Given the description of an element on the screen output the (x, y) to click on. 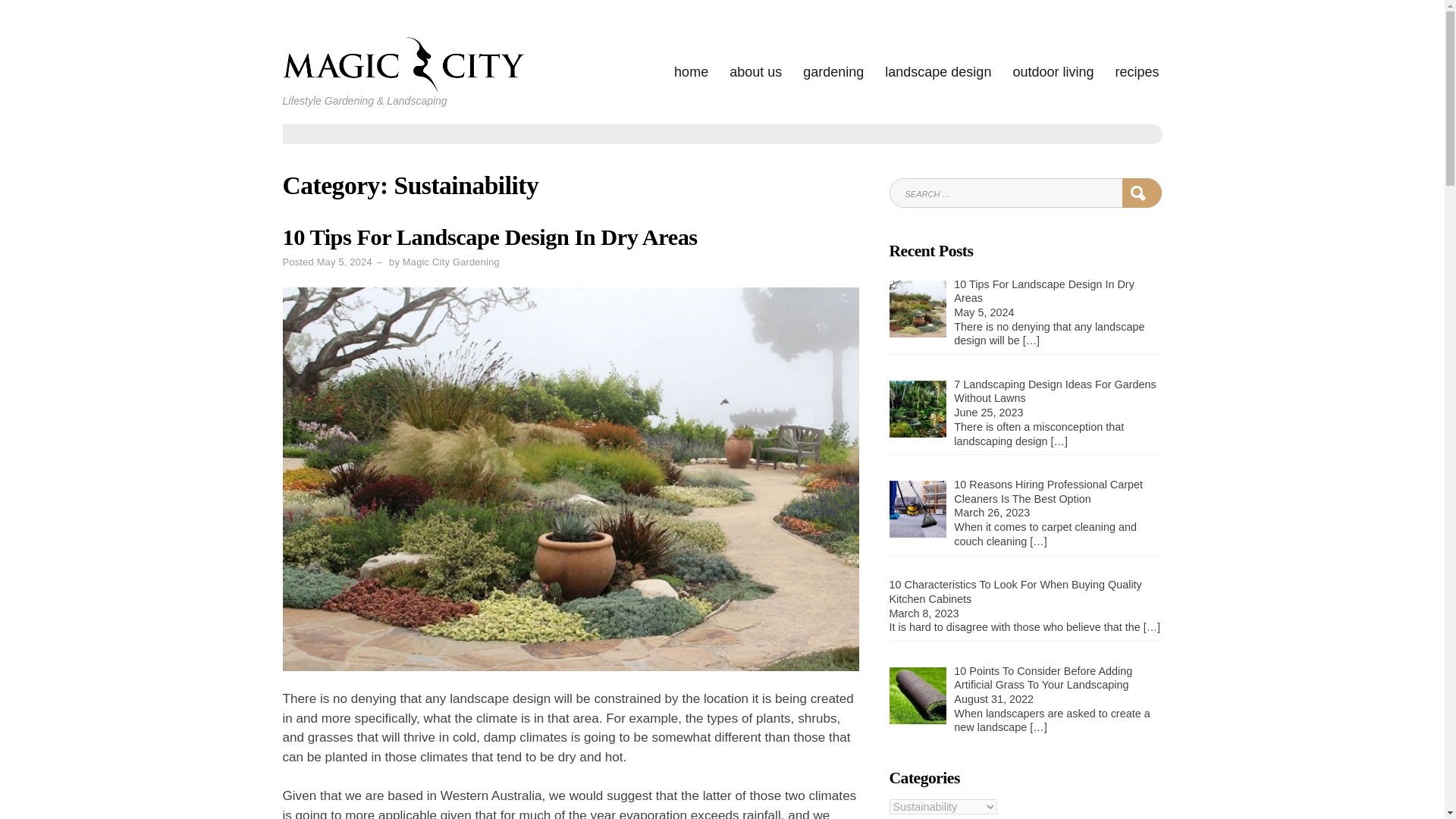
Magic City Gardening (451, 261)
gardening (833, 72)
10 Tips For Landscape Design In Dry Areas (1043, 291)
landscape design (938, 72)
May 5, 2024 (344, 261)
10 Tips For Landscape Design In Dry Areas (489, 237)
7 Landscaping Design Ideas For Gardens Without Lawns (1054, 391)
home (690, 72)
recipes (1136, 72)
SEARCH (1141, 193)
outdoor living (1052, 72)
